Given the description of an element on the screen output the (x, y) to click on. 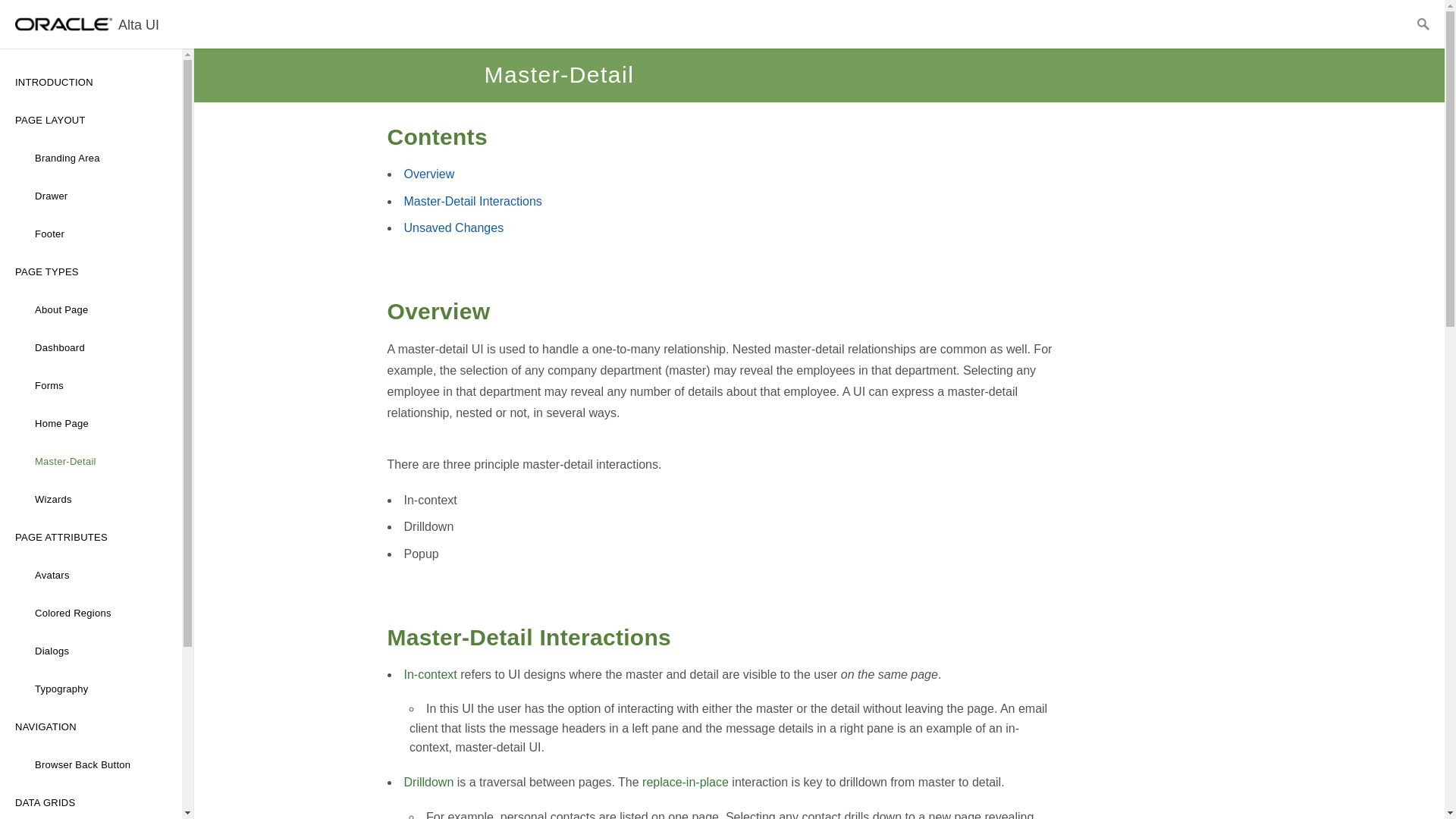
Forms (91, 385)
Home Page (91, 423)
Typography (91, 689)
Avatars (91, 575)
Master-Detail (91, 461)
Alta UI (90, 24)
Wizards (91, 499)
DATA GRIDS (91, 801)
Colored Regions (91, 613)
Overview (428, 173)
Drawer (91, 196)
Master-Detail Interactions (472, 201)
Branding Area (91, 158)
PAGE LAYOUT (91, 120)
NAVIGATION (91, 727)
